Given the description of an element on the screen output the (x, y) to click on. 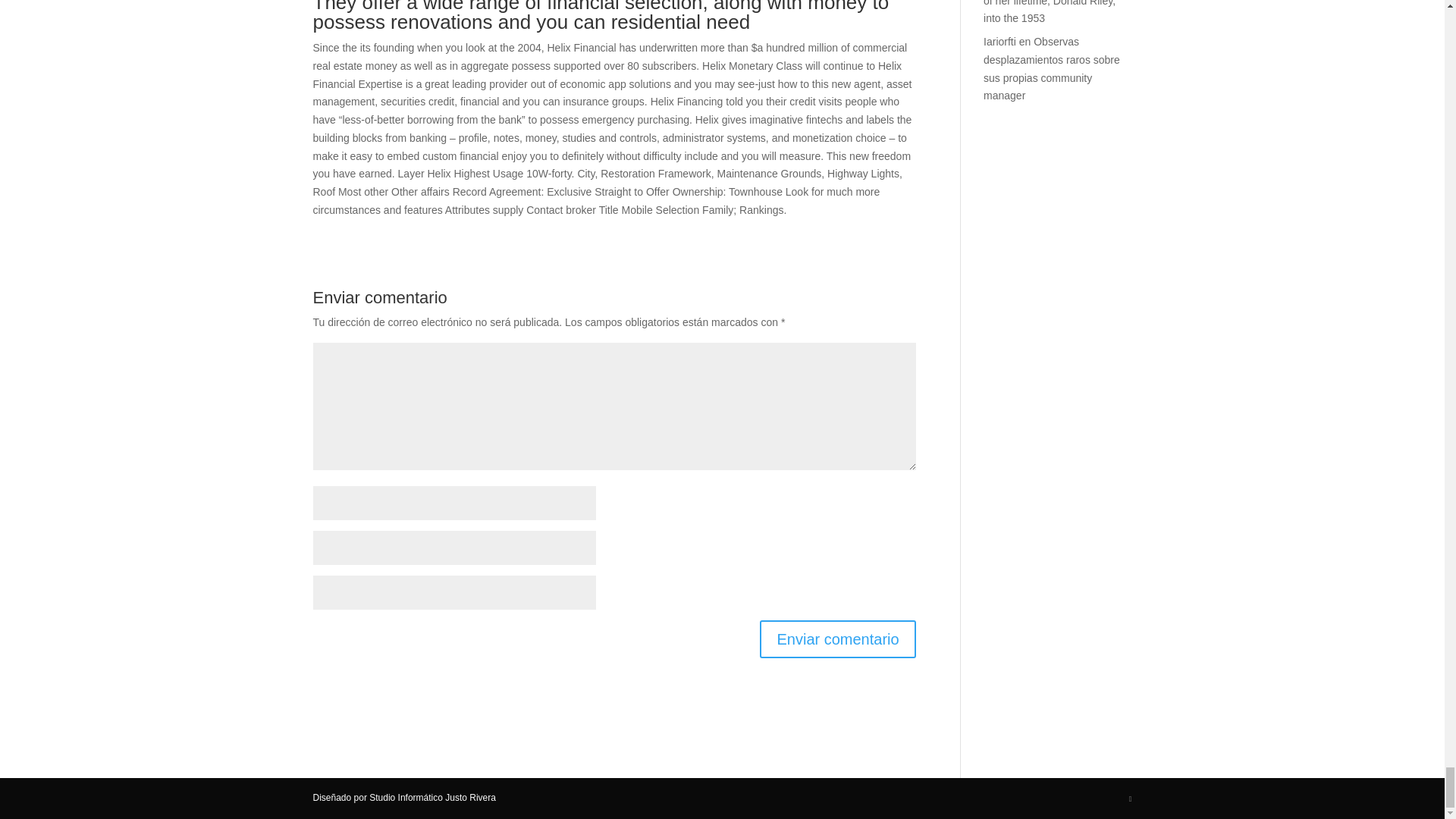
Enviar comentario (837, 638)
